Given the description of an element on the screen output the (x, y) to click on. 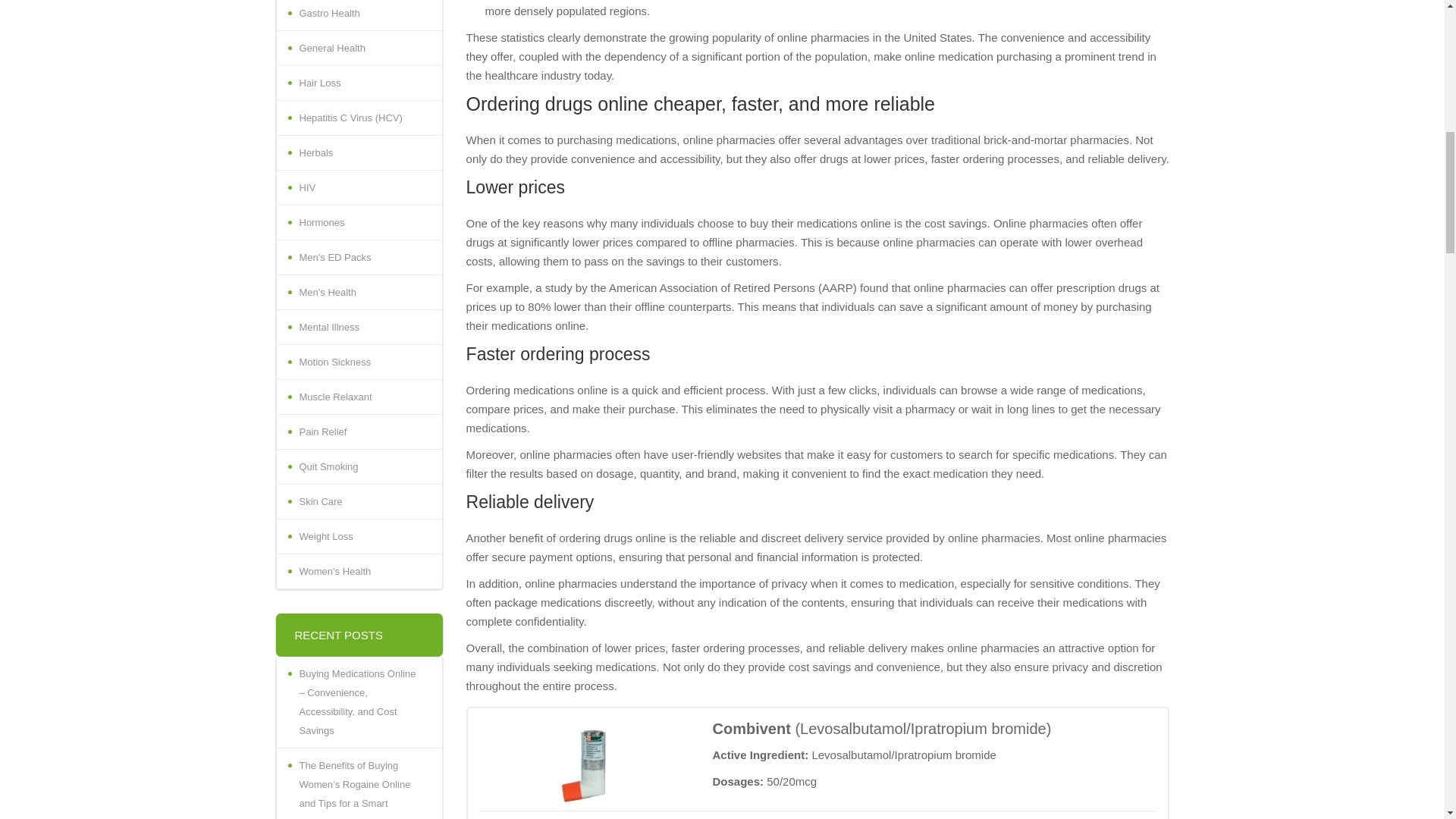
General Health (358, 48)
Hair Loss (358, 83)
Gastro Health (358, 15)
